Given the description of an element on the screen output the (x, y) to click on. 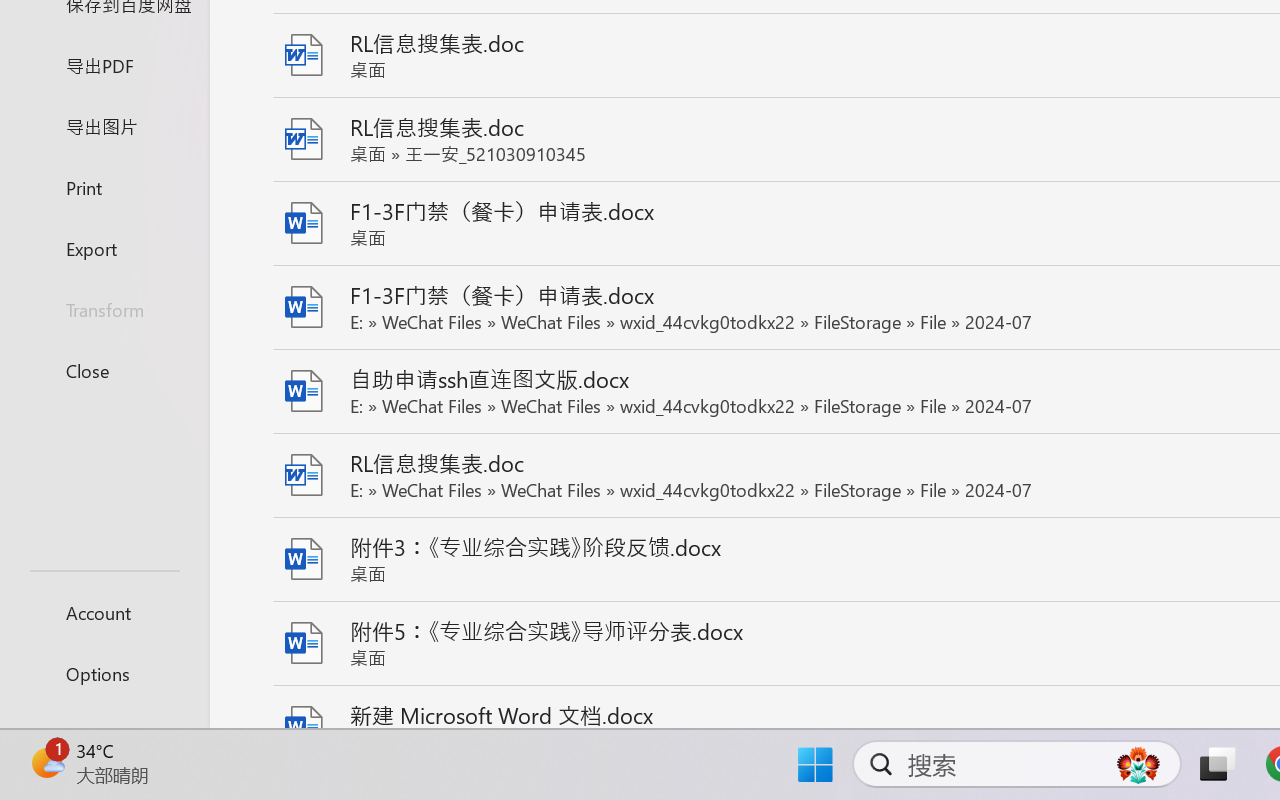
AutomationID: DynamicSearchBoxGleamImage (1138, 764)
Transform (104, 309)
AutomationID: BadgeAnchorLargeTicker (46, 762)
Print (104, 186)
Account (104, 612)
Close (104, 370)
Options (104, 673)
Export (104, 248)
